Given the description of an element on the screen output the (x, y) to click on. 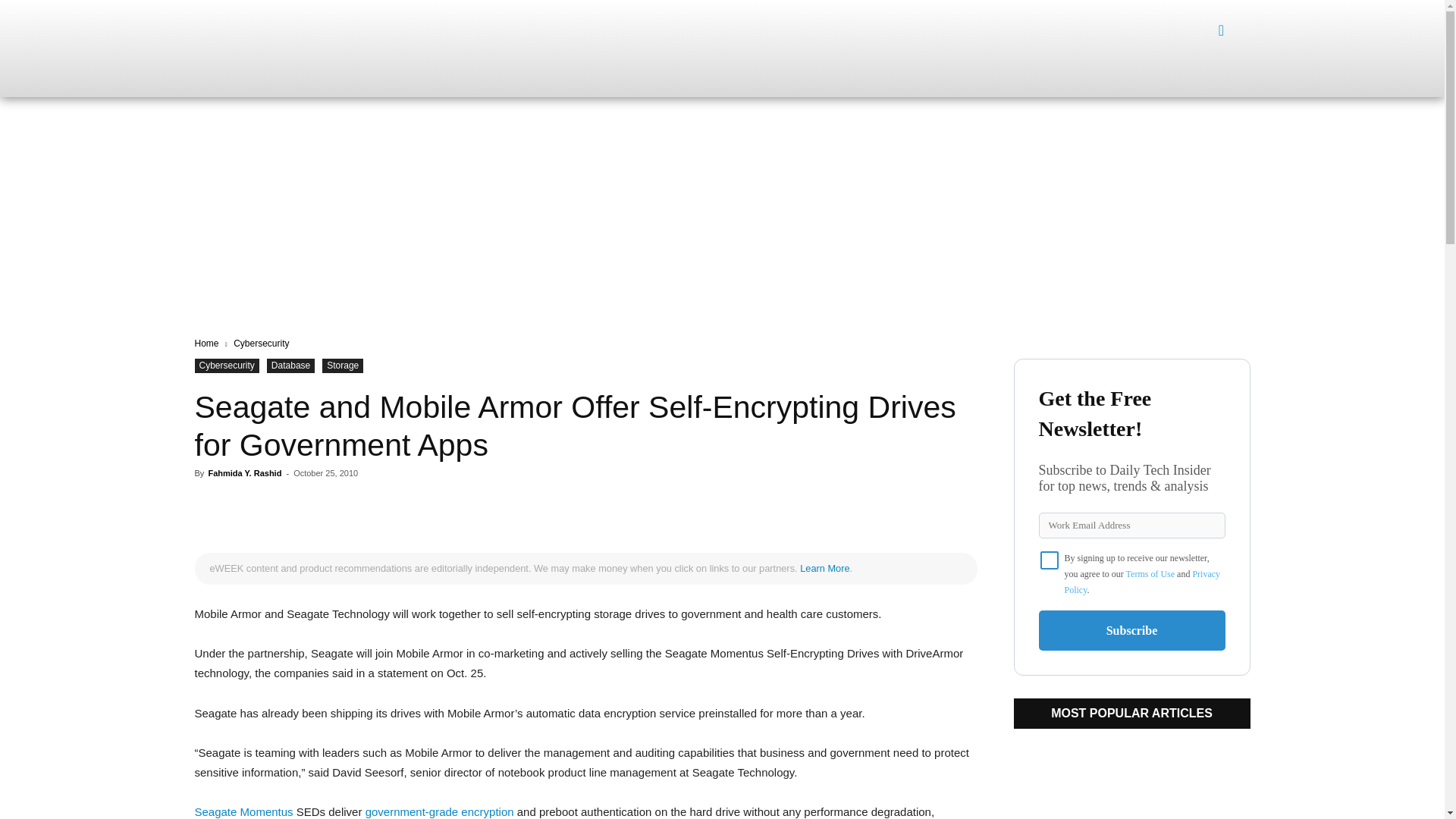
on (1049, 560)
